Given the description of an element on the screen output the (x, y) to click on. 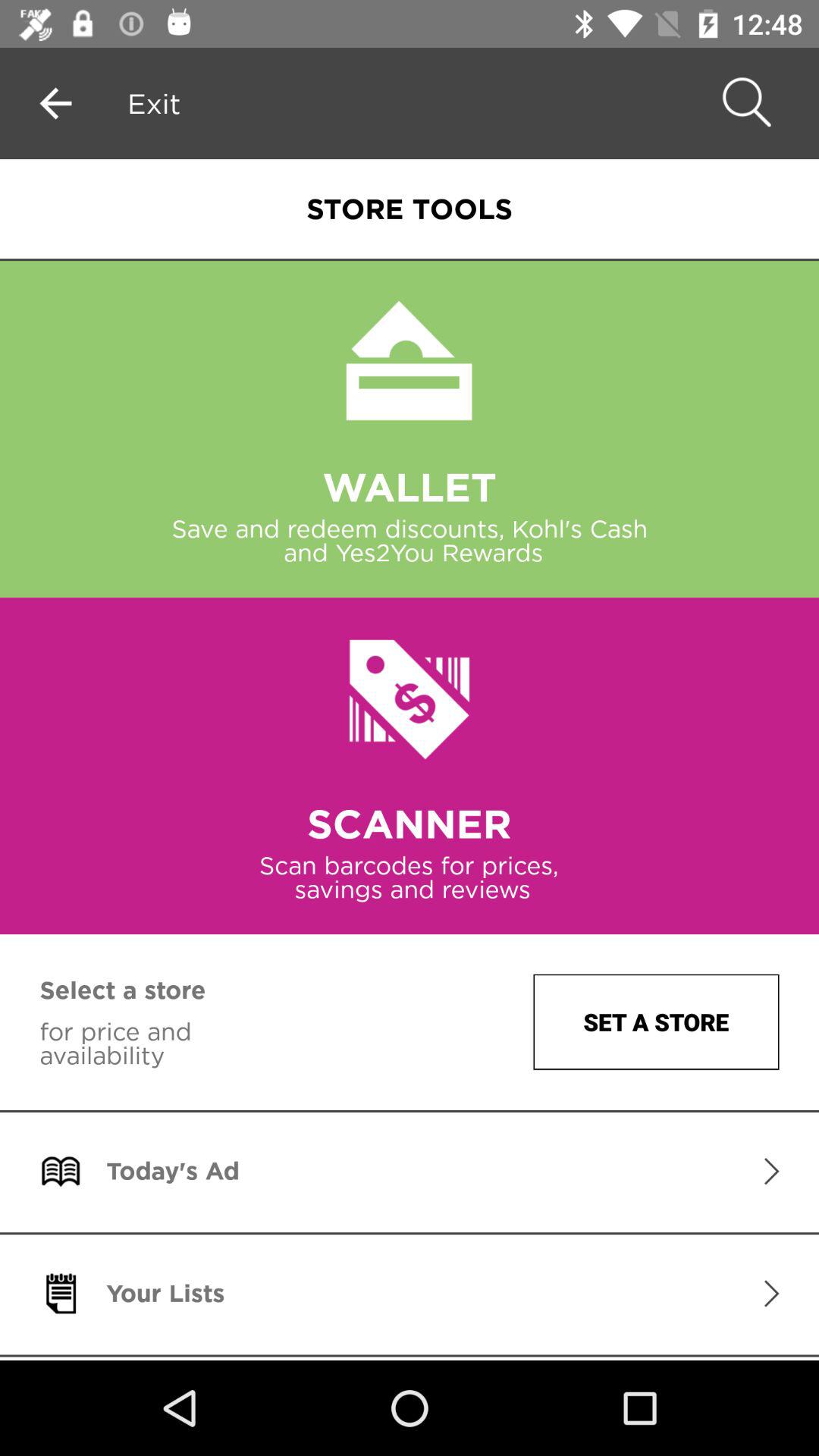
jump until exit (153, 103)
